Given the description of an element on the screen output the (x, y) to click on. 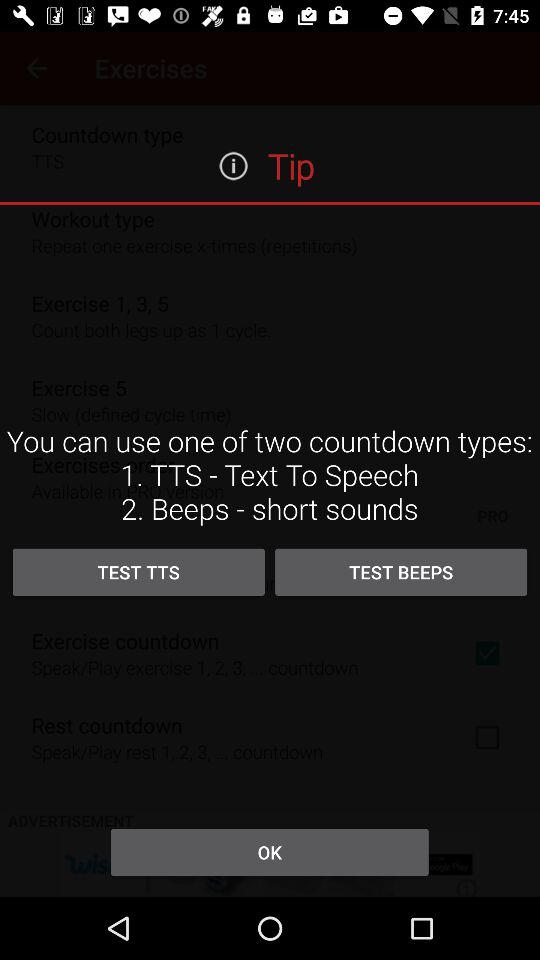
open item to the right of the test tts (401, 571)
